Given the description of an element on the screen output the (x, y) to click on. 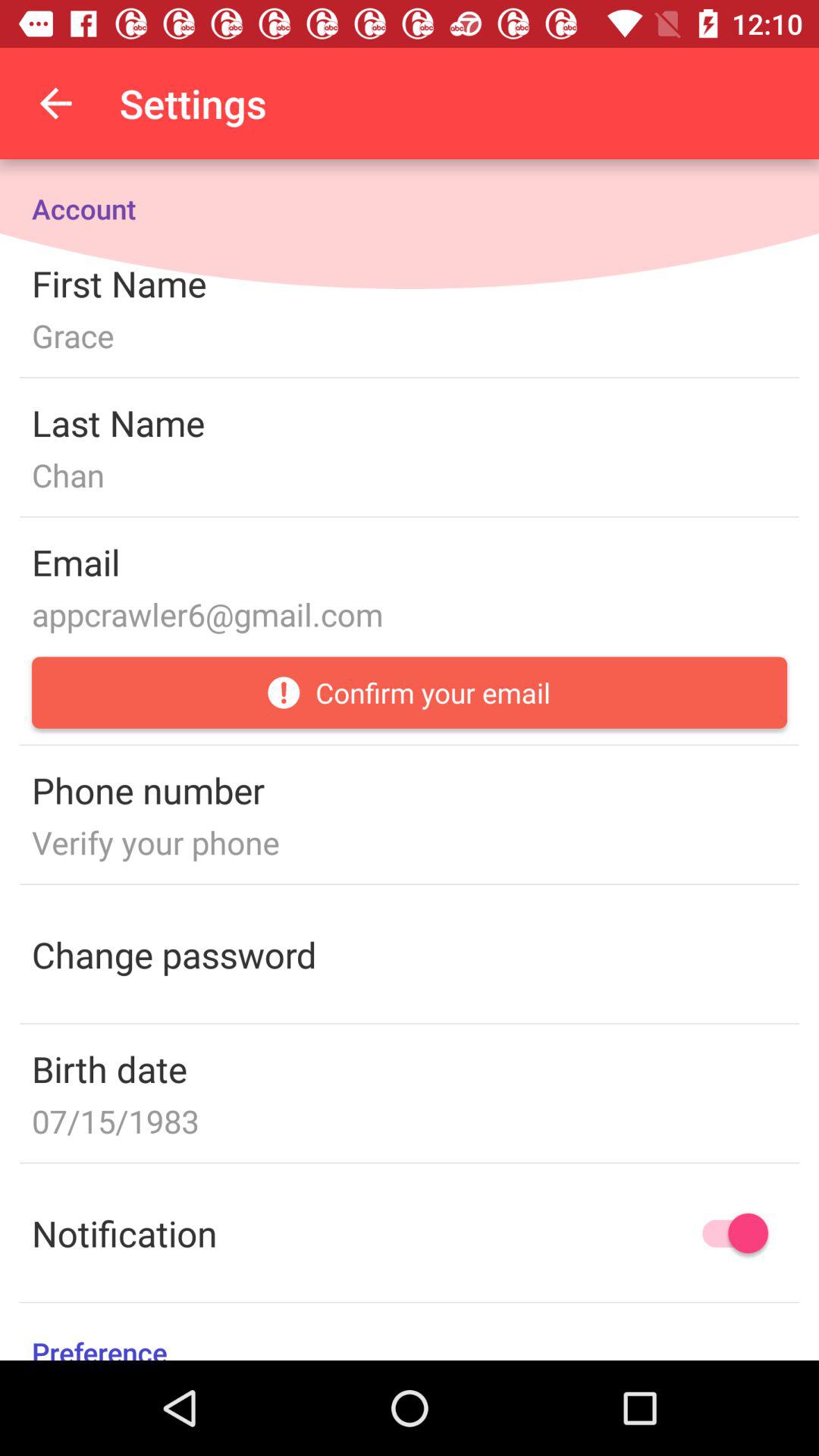
open the icon to the left of the settings item (55, 103)
